Given the description of an element on the screen output the (x, y) to click on. 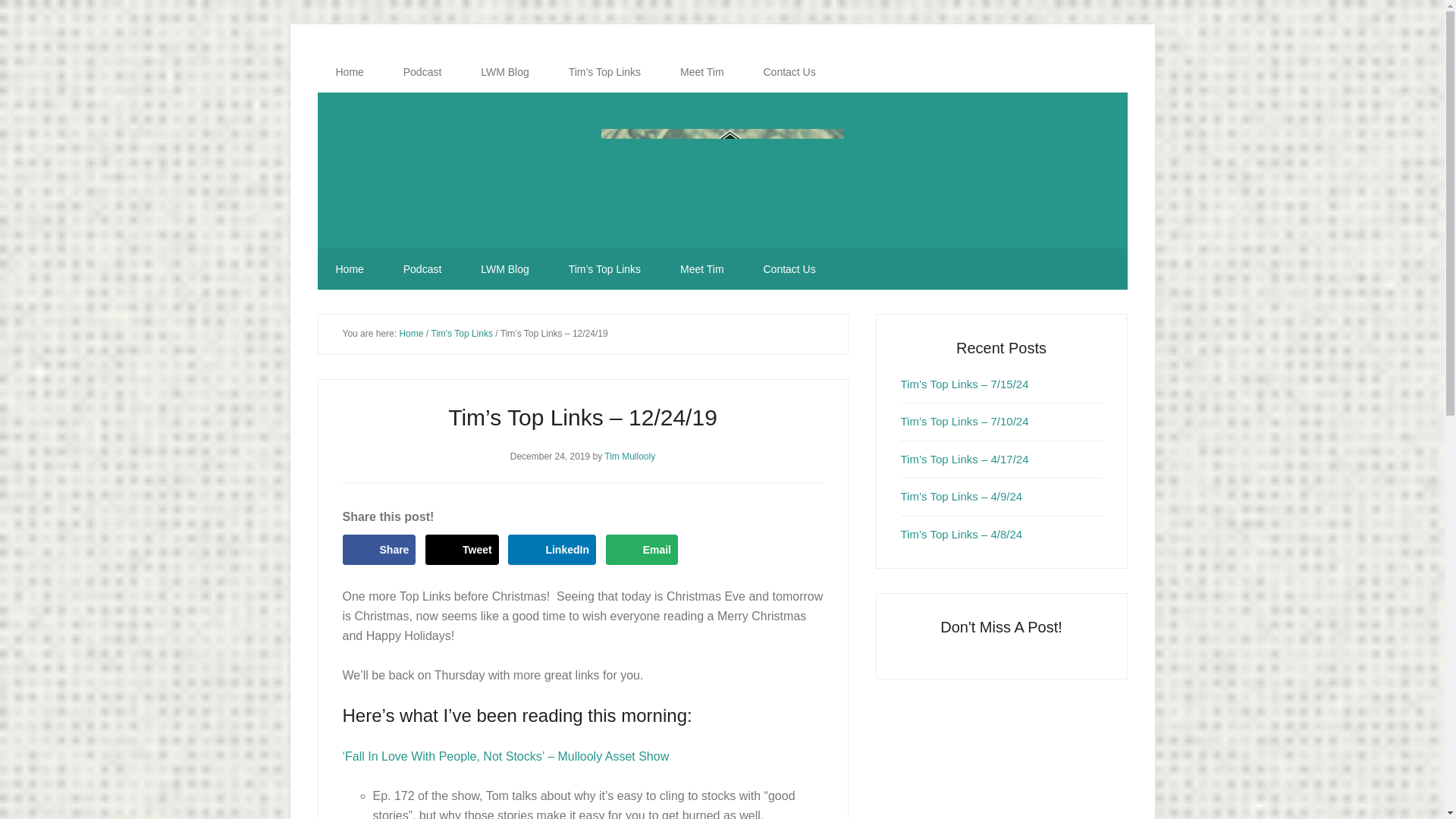
Home (349, 268)
Home (349, 71)
LWM Blog (505, 268)
Tweet (462, 549)
Podcast (422, 71)
Tim Mullooly (629, 455)
Podcast (422, 268)
Share on LinkedIn (551, 549)
Share on X (462, 549)
Email (641, 549)
